Given the description of an element on the screen output the (x, y) to click on. 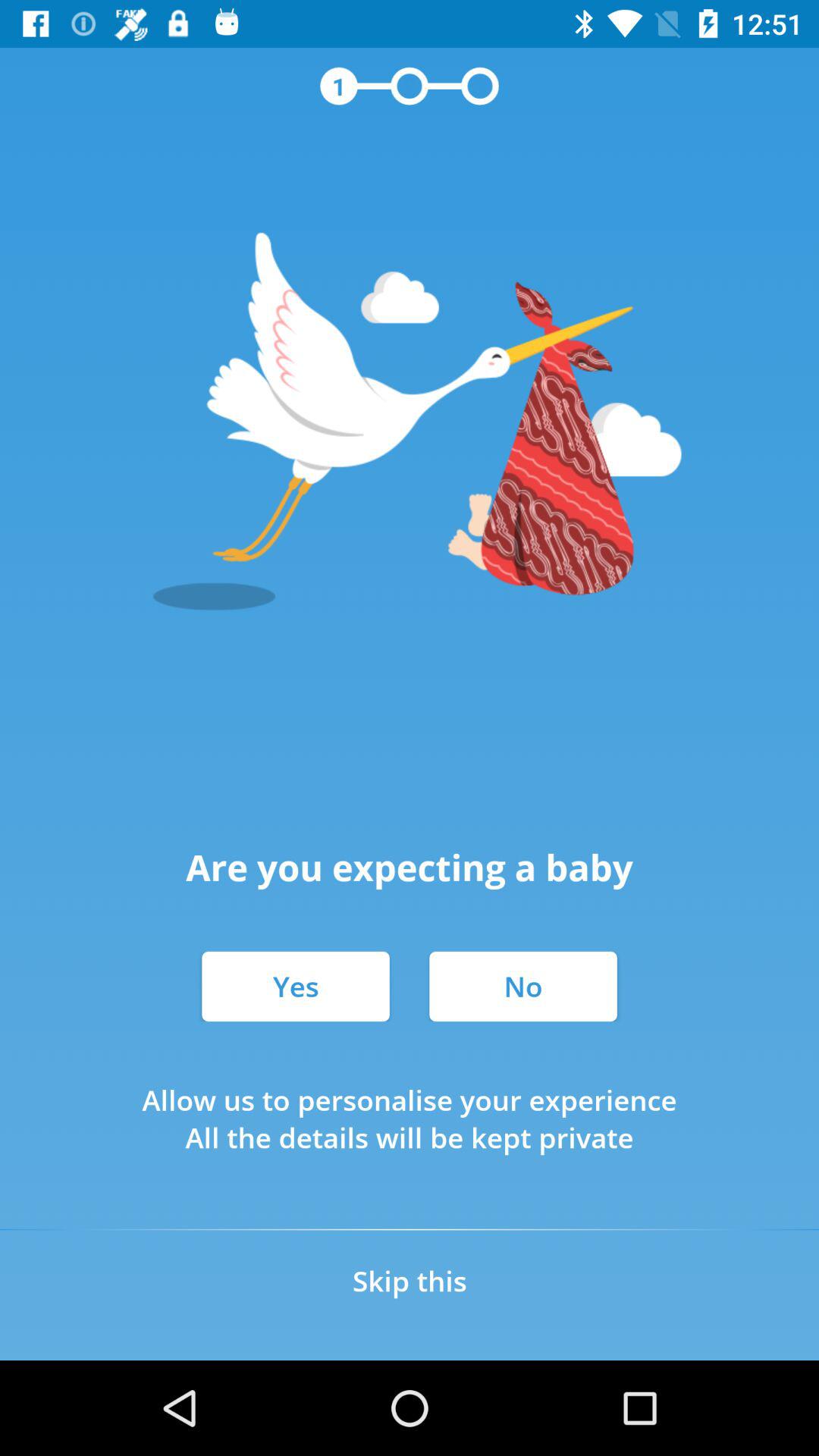
select the skip this (409, 1280)
